Given the description of an element on the screen output the (x, y) to click on. 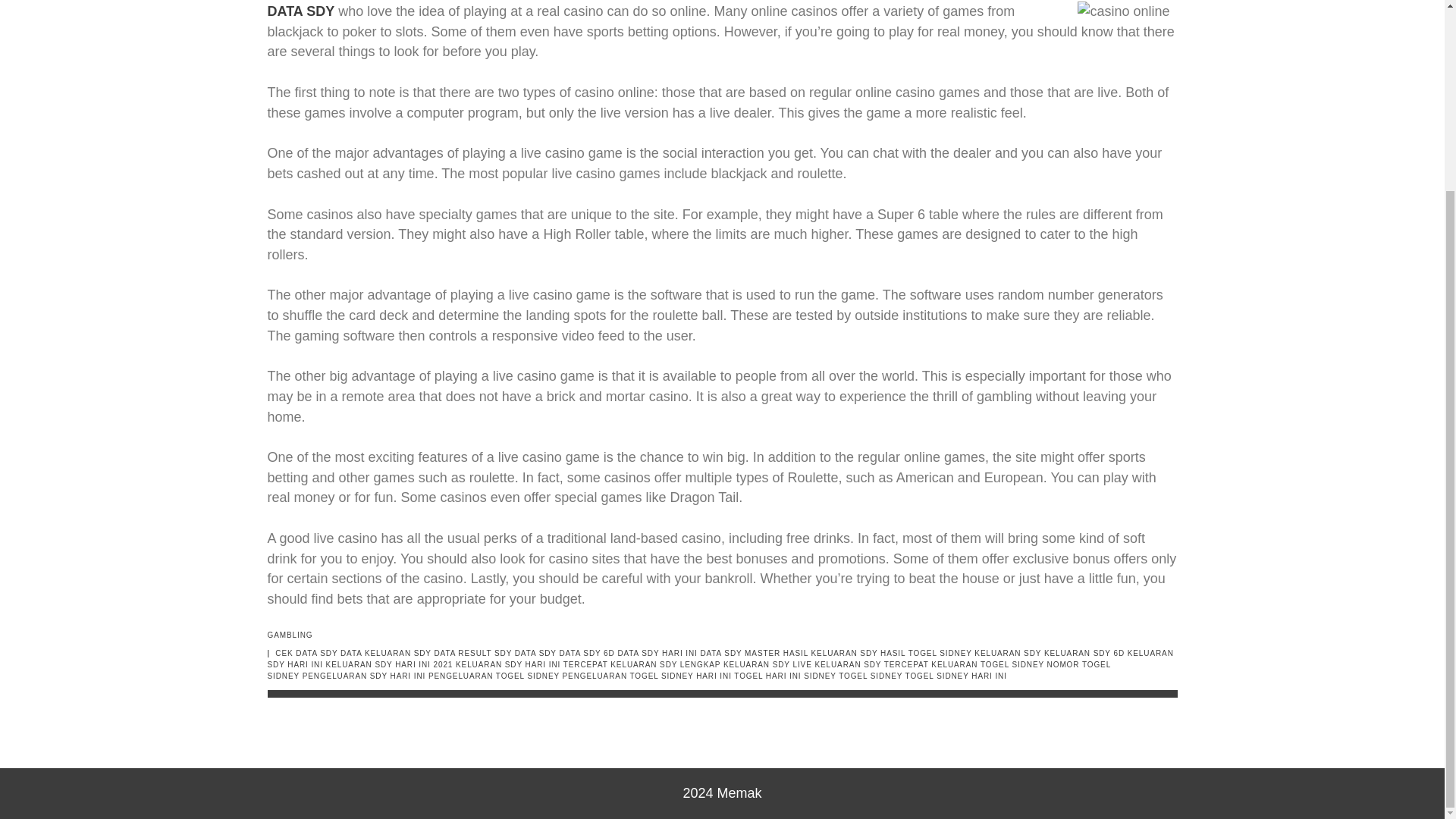
PENGELUARAN TOGEL SIDNEY HARI INI (647, 675)
GAMBLING (289, 634)
DATA SDY 6D (586, 653)
DATA SDY (300, 11)
KELUARAN SDY HARI INI TERCEPAT (531, 664)
TOGEL SIDNEY HARI INI (956, 675)
CEK DATA SDY (306, 653)
KELUARAN SDY HARI INI 2021 (389, 664)
DATA SDY (535, 653)
KELUARAN SDY LENGKAP (665, 664)
TOGEL HARI INI SIDNEY (784, 675)
PENGELUARAN TOGEL SIDNEY (493, 675)
HASIL KELUARAN SDY (830, 653)
KELUARAN SDY HARI INI (719, 659)
KELUARAN TOGEL SIDNEY (987, 664)
